Given the description of an element on the screen output the (x, y) to click on. 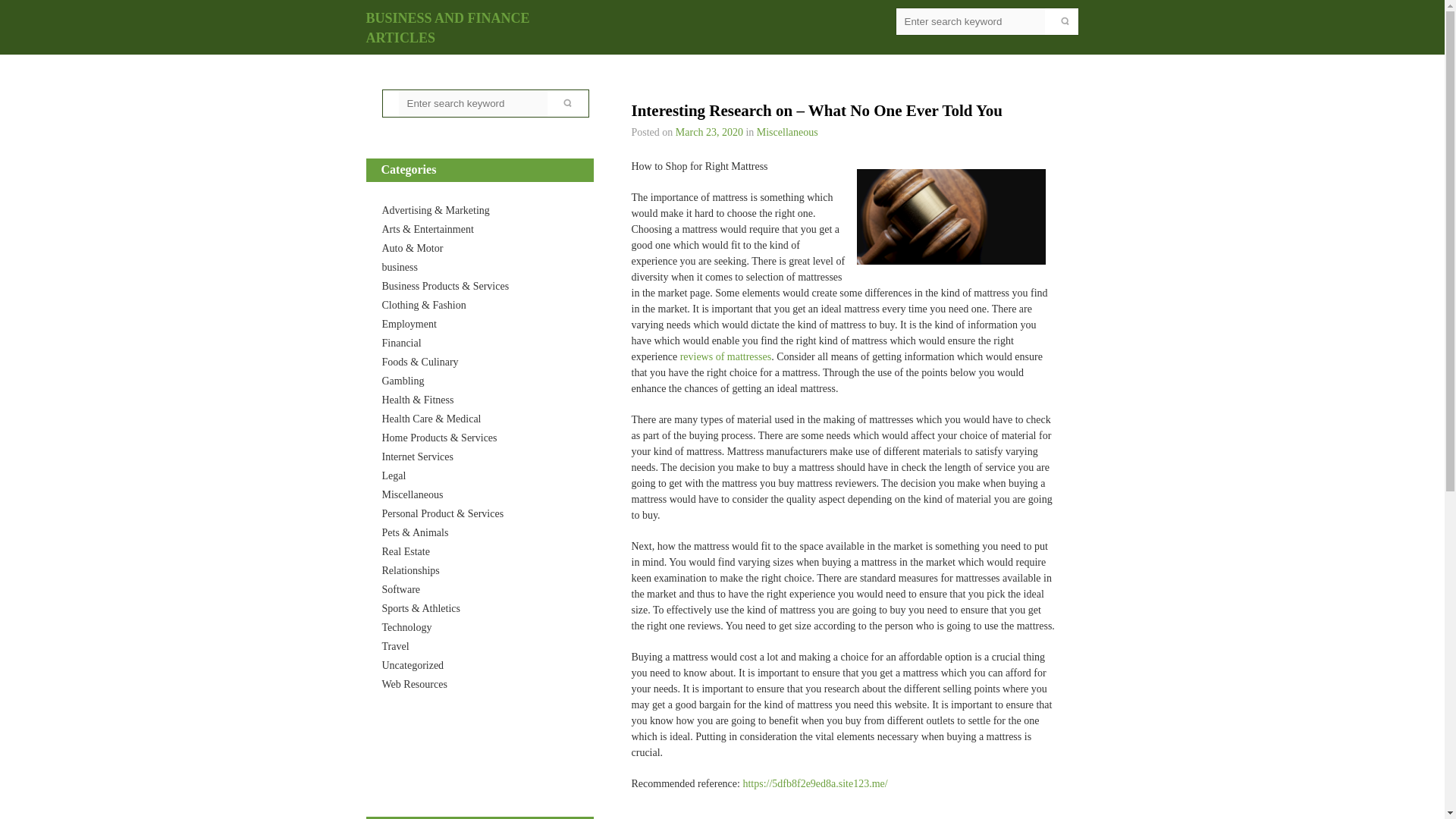
Employment (408, 324)
reviews of mattresses (725, 356)
Gambling (403, 380)
Internet Services (416, 456)
Travel (395, 645)
Relationships (410, 570)
Real Estate (405, 551)
Technology (406, 627)
business (399, 266)
Uncategorized (412, 665)
Financial (401, 342)
Web Resources (413, 684)
Business and Finance Articles (447, 27)
Miscellaneous (412, 494)
Legal (393, 475)
